Given the description of an element on the screen output the (x, y) to click on. 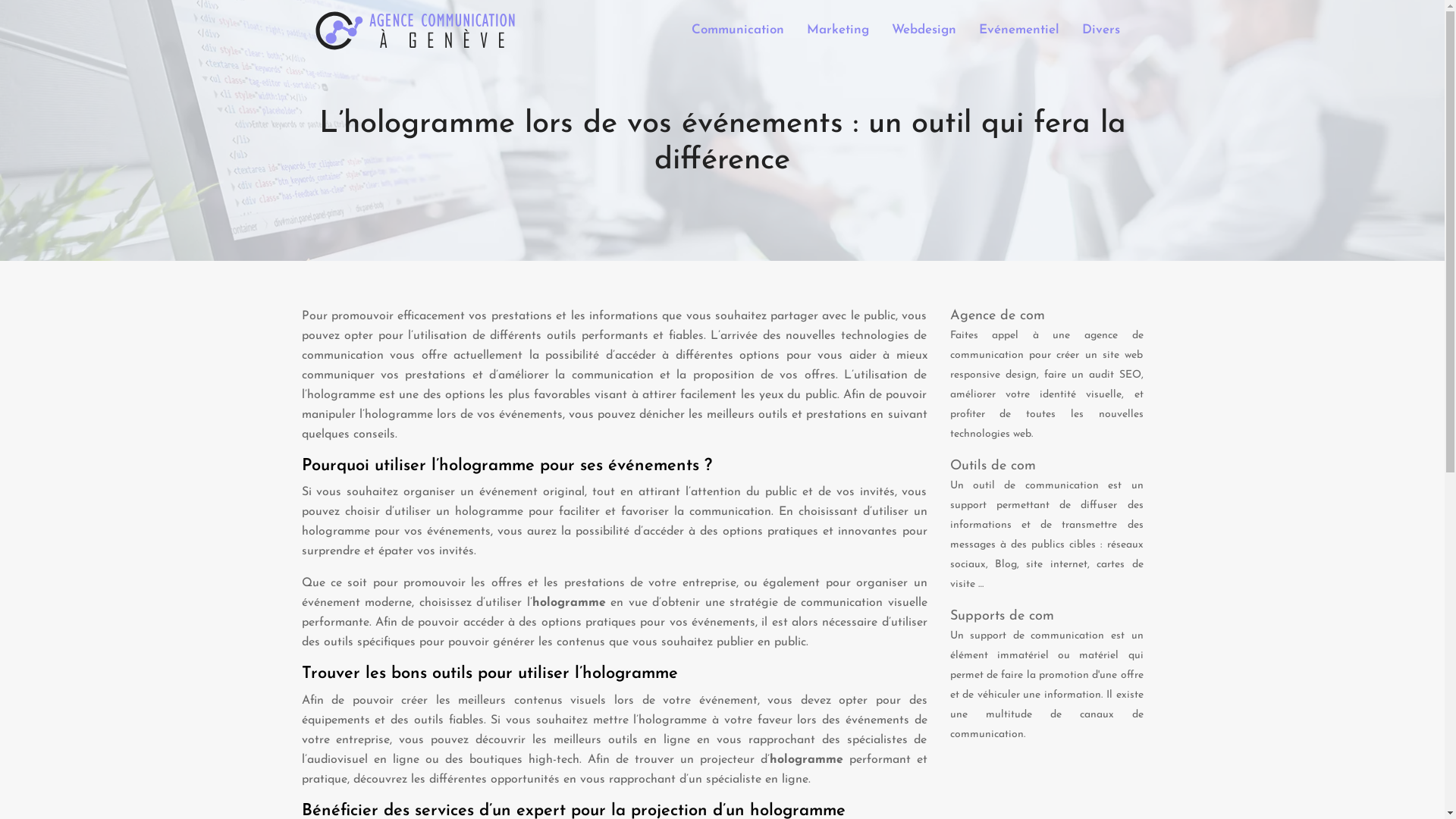
Webdesign Element type: text (923, 30)
Marketing Element type: text (837, 30)
Communication Element type: text (737, 30)
Divers Element type: text (1100, 30)
